Given the description of an element on the screen output the (x, y) to click on. 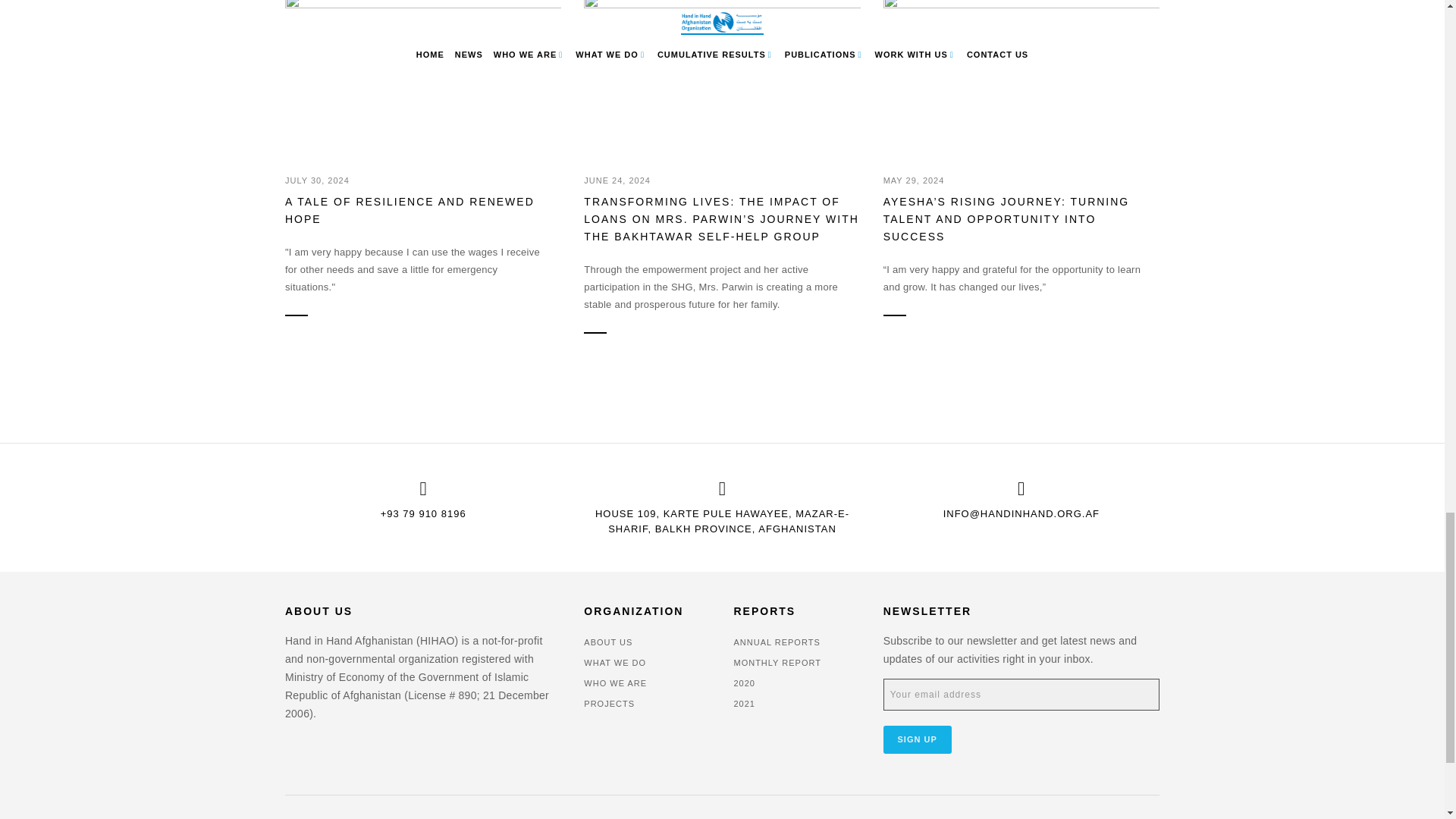
Sign up (917, 739)
